Given the description of an element on the screen output the (x, y) to click on. 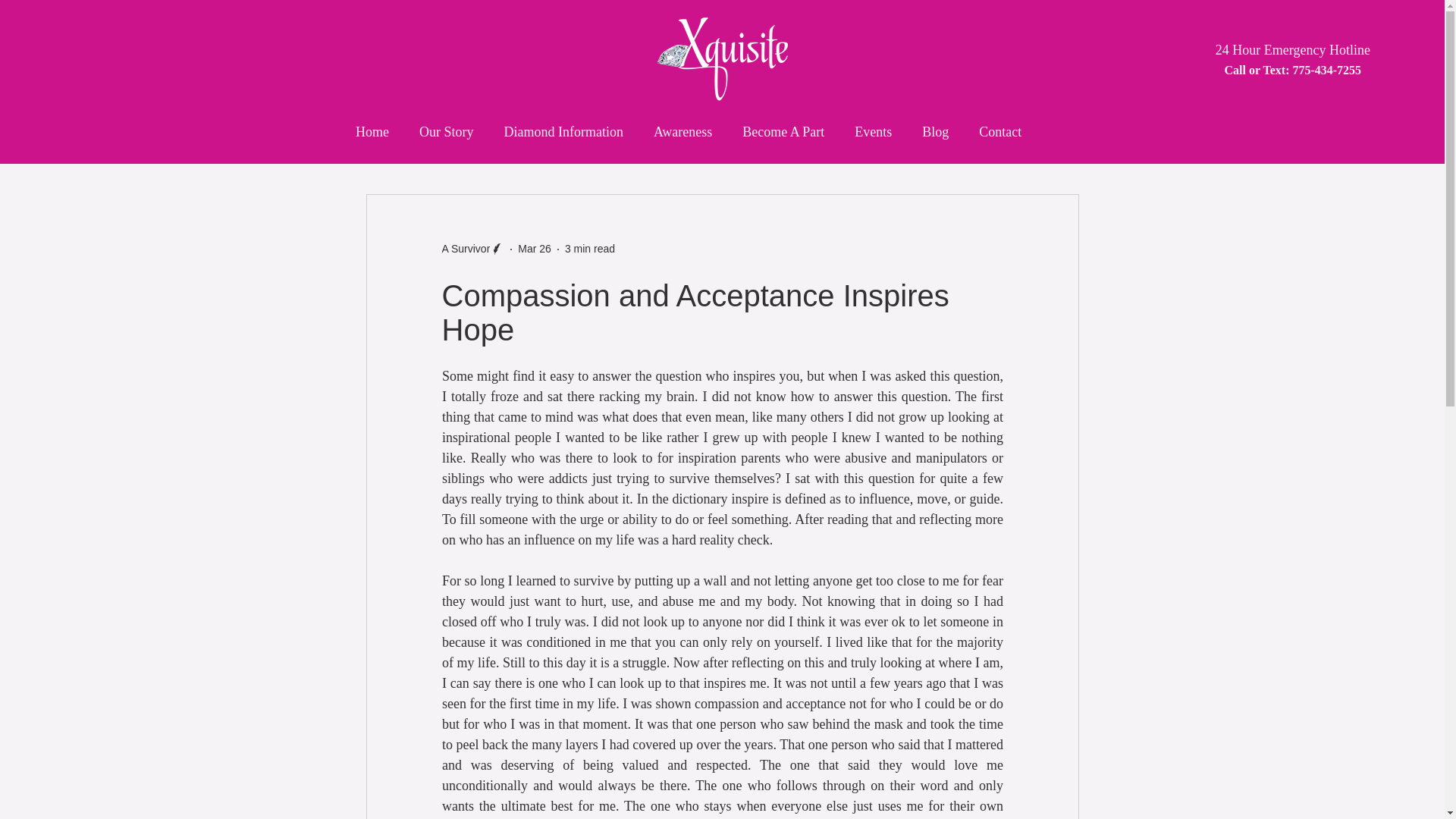
Become A Part (783, 132)
Blog (935, 132)
A Survivor (472, 248)
Our Story (446, 132)
Mar 26 (534, 248)
A Survivor (465, 248)
Awareness (682, 132)
Home (371, 132)
Diamond Information (563, 132)
Events (872, 132)
Contact (1000, 132)
3 min read (589, 248)
